Given the description of an element on the screen output the (x, y) to click on. 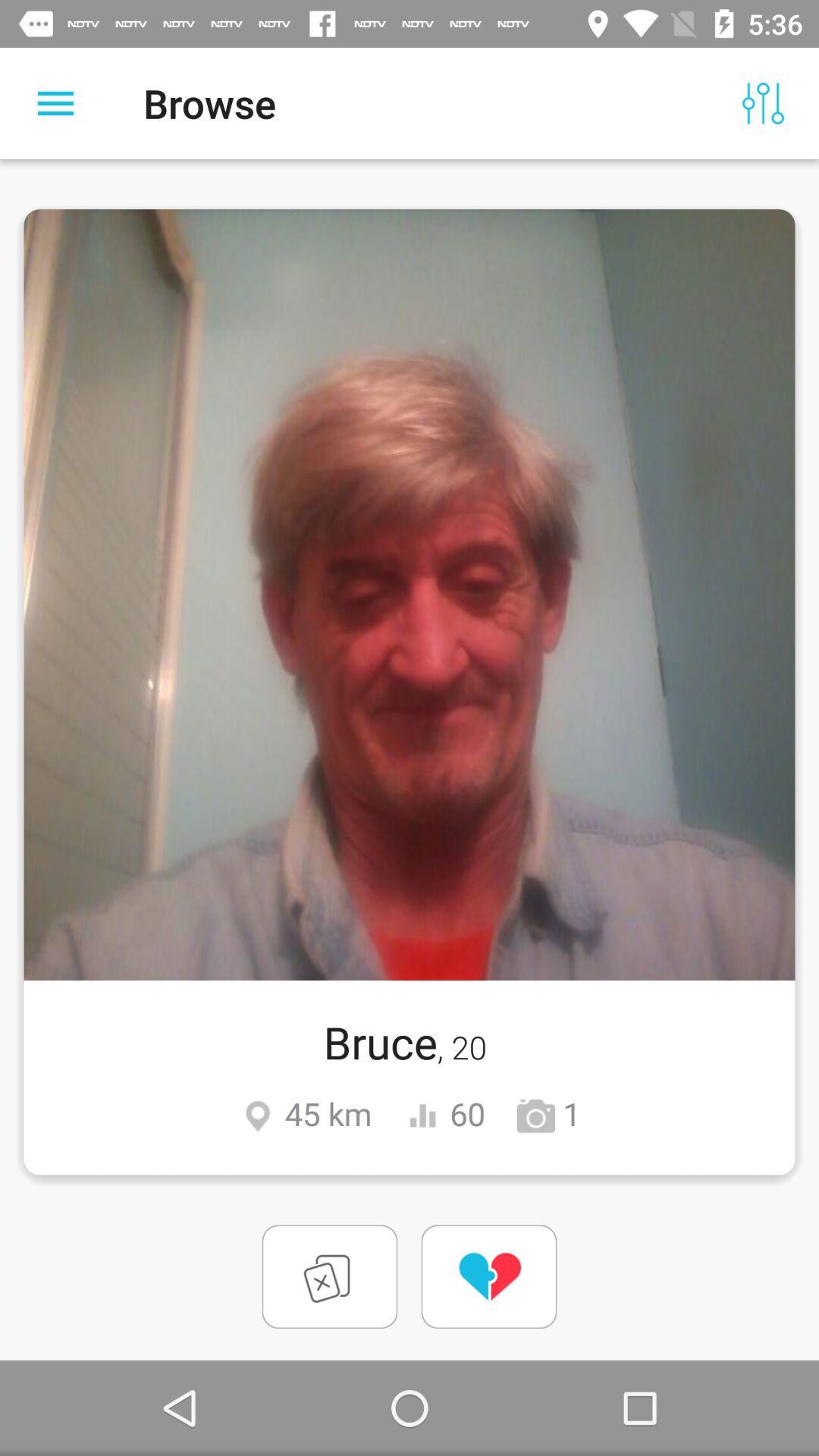
turn on the item at the top right corner (763, 103)
